Given the description of an element on the screen output the (x, y) to click on. 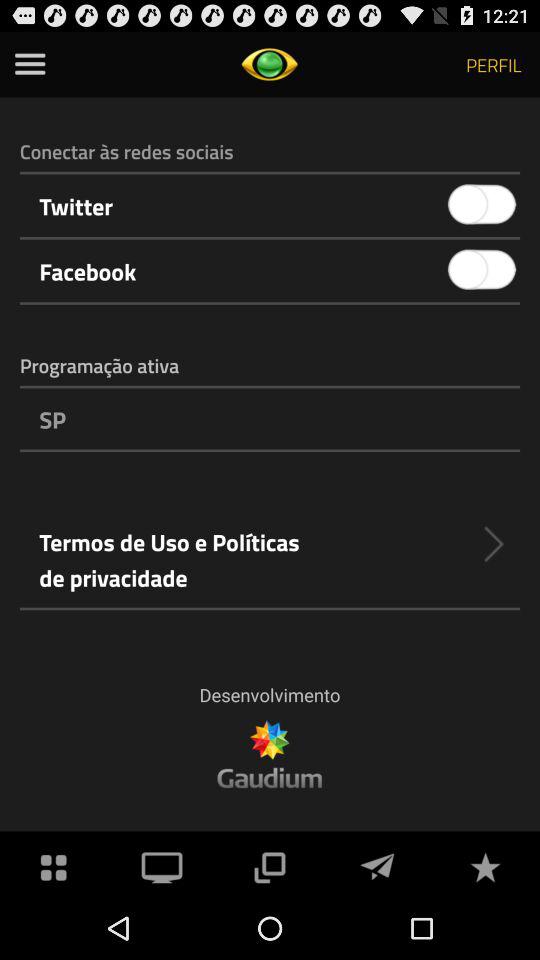
open app below desenvolvimento (377, 864)
